Given the description of an element on the screen output the (x, y) to click on. 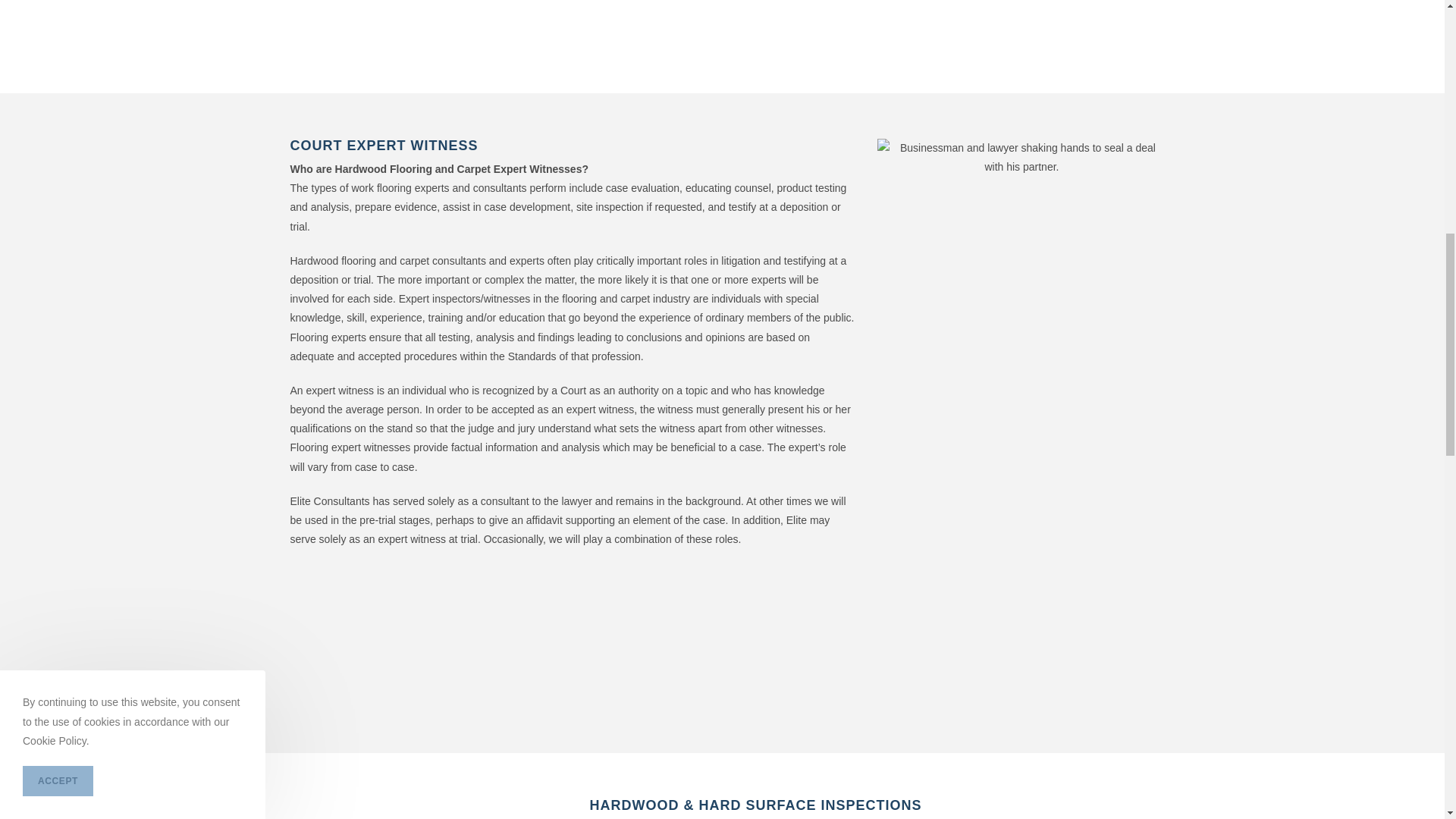
Services 3 (427, 808)
Services 1 (433, 23)
